Given the description of an element on the screen output the (x, y) to click on. 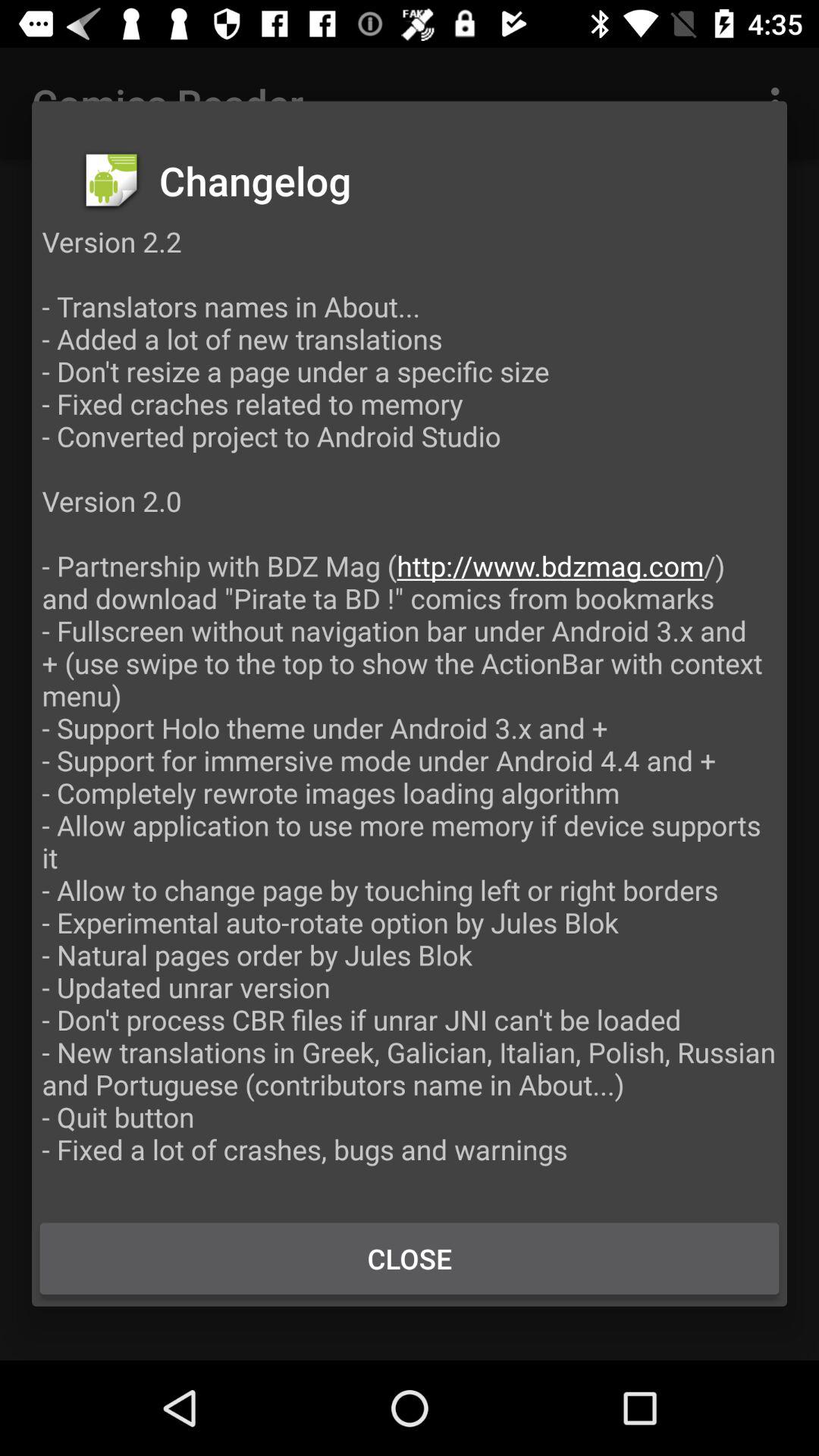
flip until version 2 2 app (409, 711)
